Given the description of an element on the screen output the (x, y) to click on. 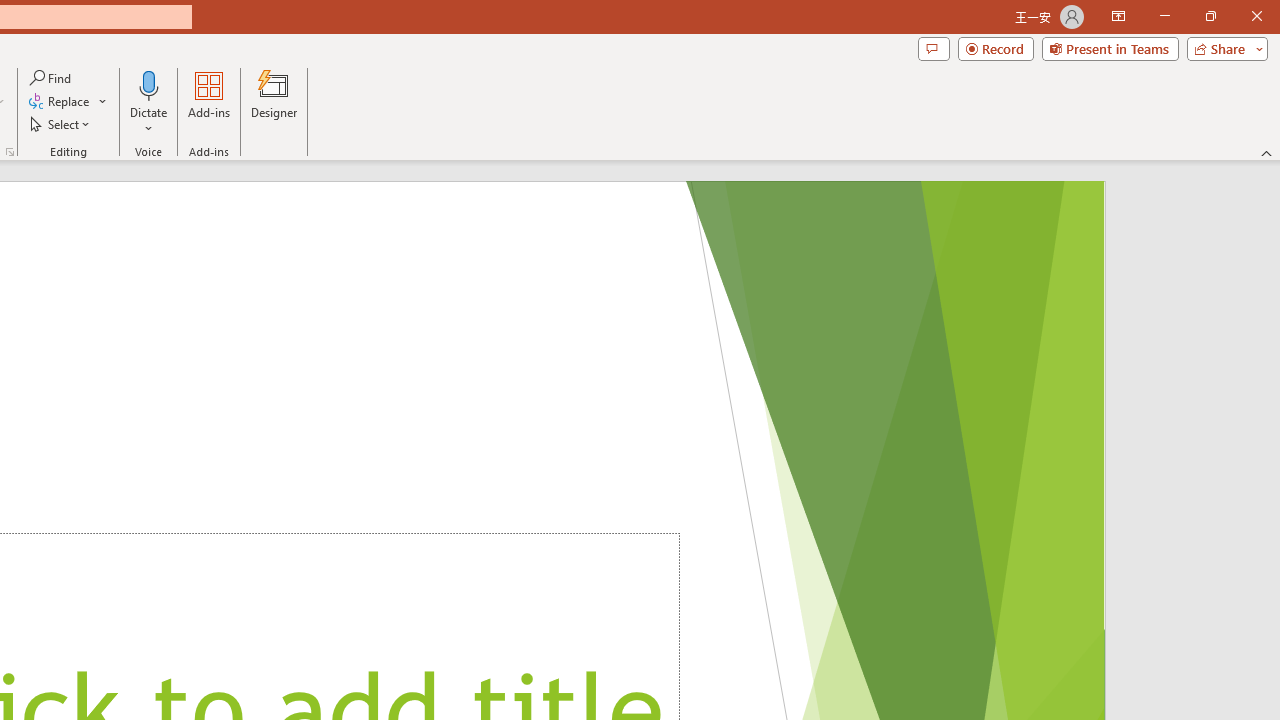
Dictate (149, 84)
Record (995, 48)
Designer (274, 102)
Share (1223, 48)
Replace... (68, 101)
Replace... (60, 101)
Restore Down (1210, 16)
Close (1256, 16)
Collapse the Ribbon (1267, 152)
Minimize (1164, 16)
Find... (51, 78)
Comments (933, 48)
Present in Teams (1109, 48)
Dictate (149, 102)
